Given the description of an element on the screen output the (x, y) to click on. 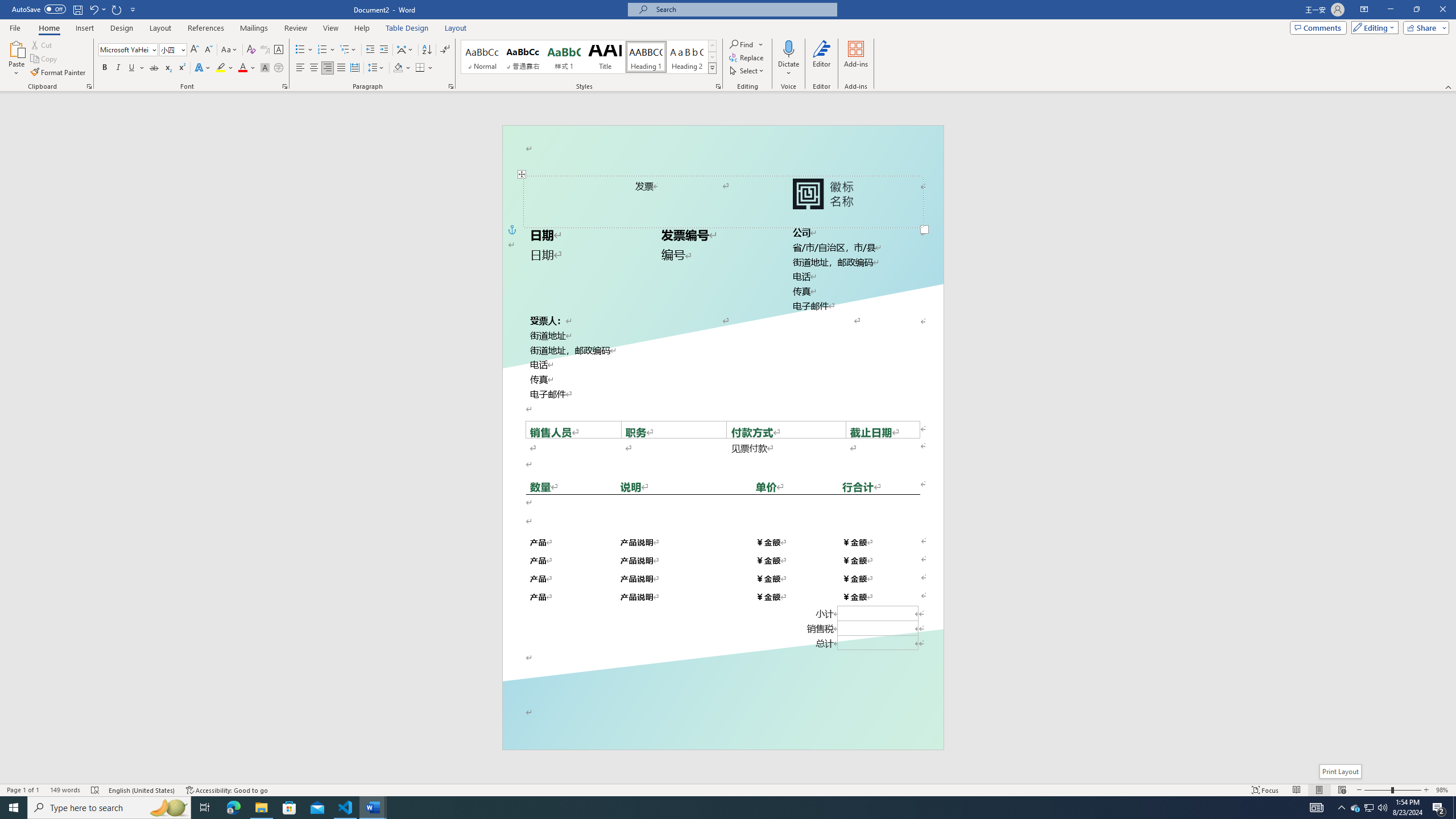
Asian Layout (405, 49)
Multilevel List (347, 49)
Zoom 98% (1443, 790)
Styles... (717, 85)
Heading 2 (686, 56)
Justify (340, 67)
Grow Font (193, 49)
Change Case (229, 49)
